Given the description of an element on the screen output the (x, y) to click on. 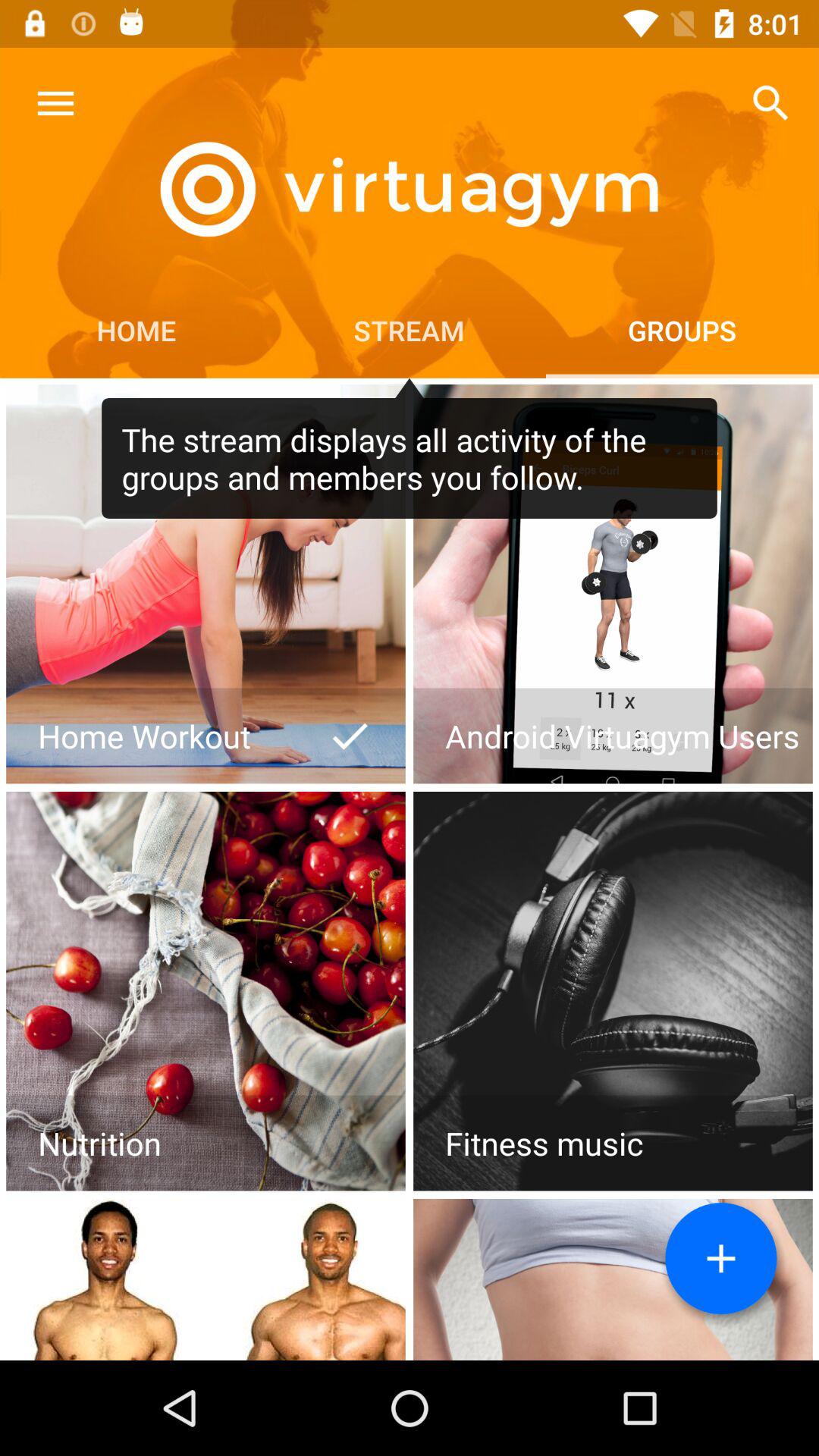
add new tab (721, 1258)
